Given the description of an element on the screen output the (x, y) to click on. 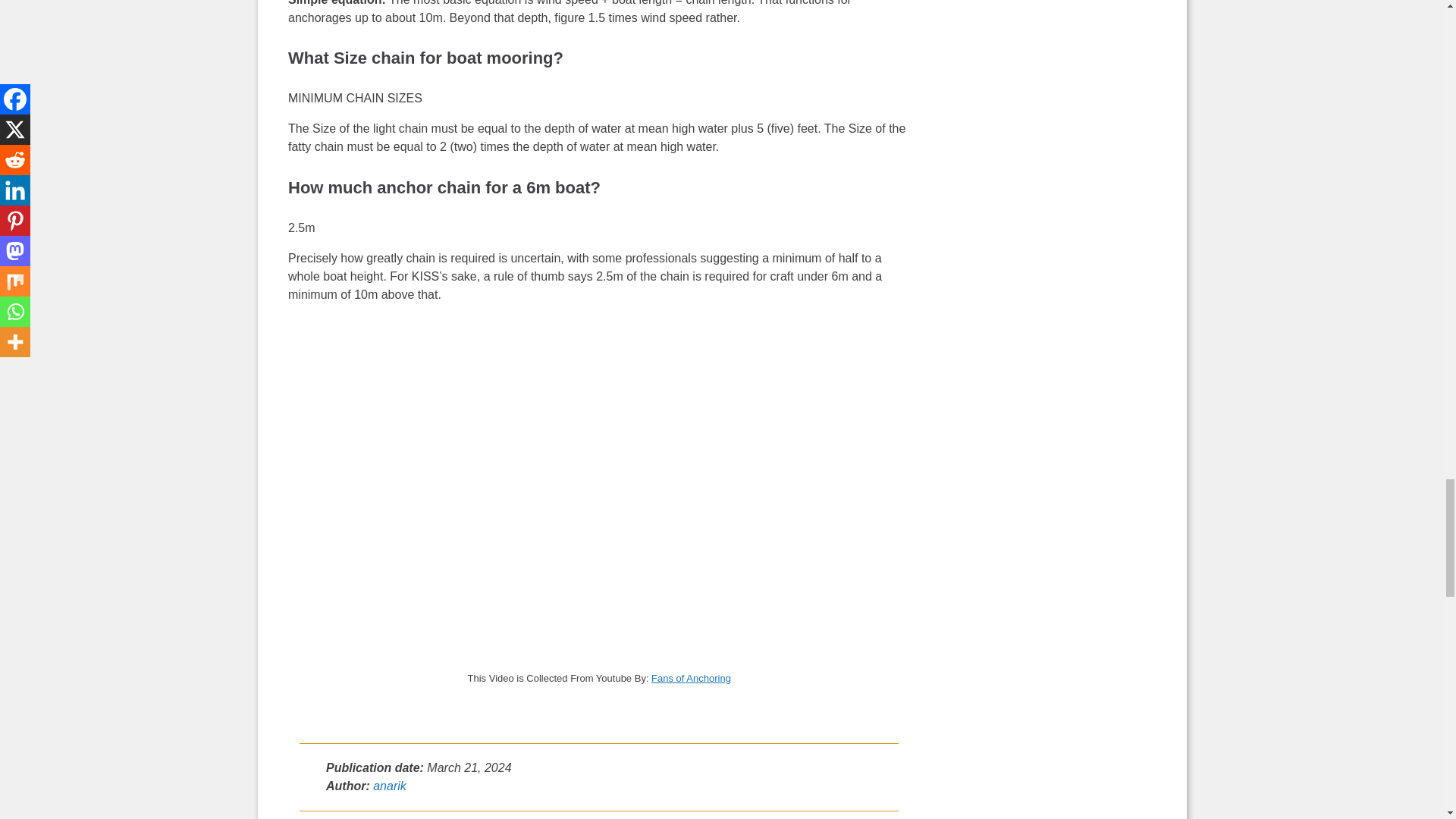
Fans of Anchoring (690, 677)
